Given the description of an element on the screen output the (x, y) to click on. 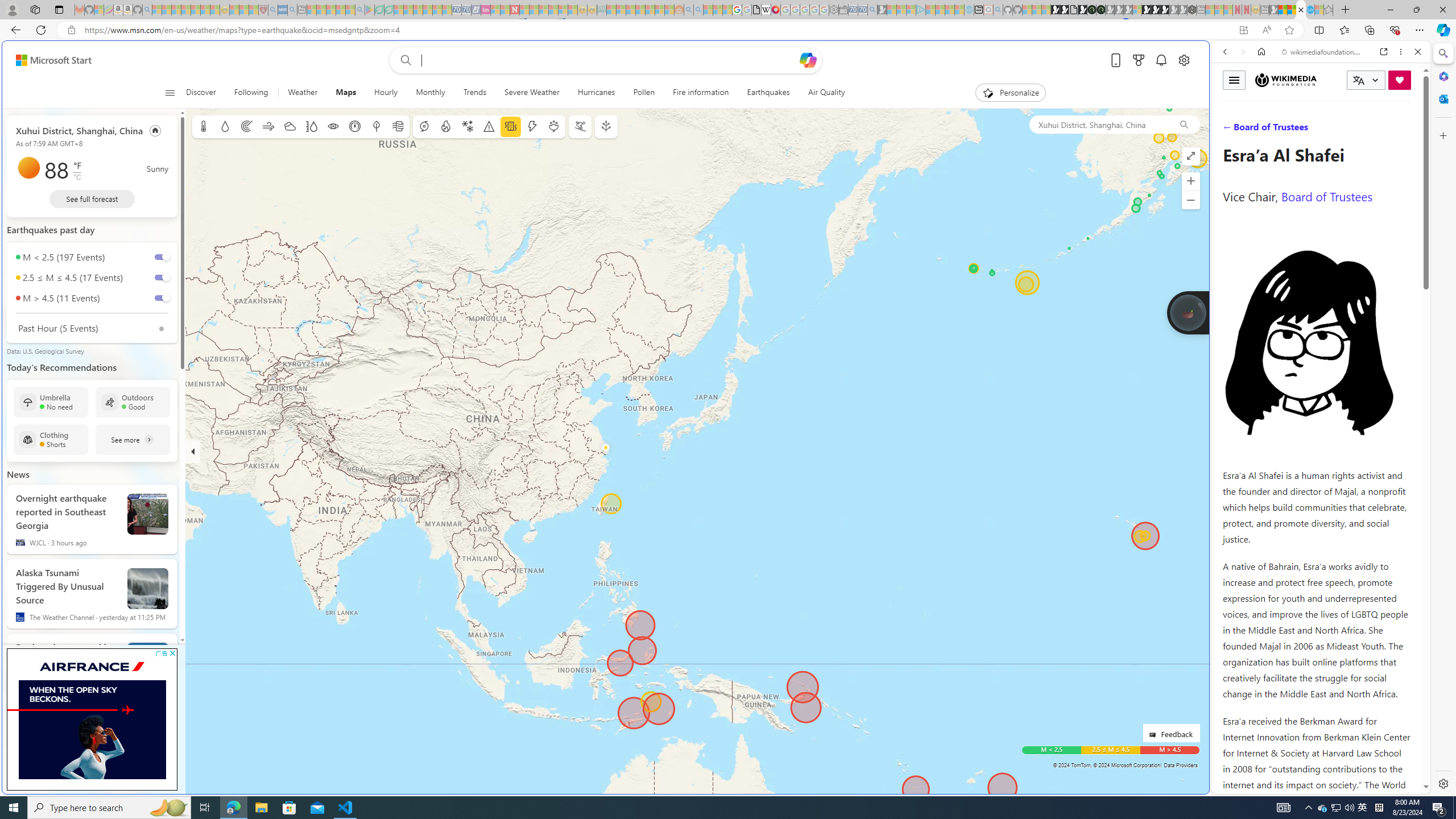
Visibility (333, 126)
IMAGES (1262, 130)
Close Customize pane (1442, 135)
Close split screen (1208, 57)
MediaWiki (774, 9)
Ad (180, 793)
google - Search - Sleeping (359, 9)
The Weather Channel (20, 616)
Earthquake (510, 126)
